Given the description of an element on the screen output the (x, y) to click on. 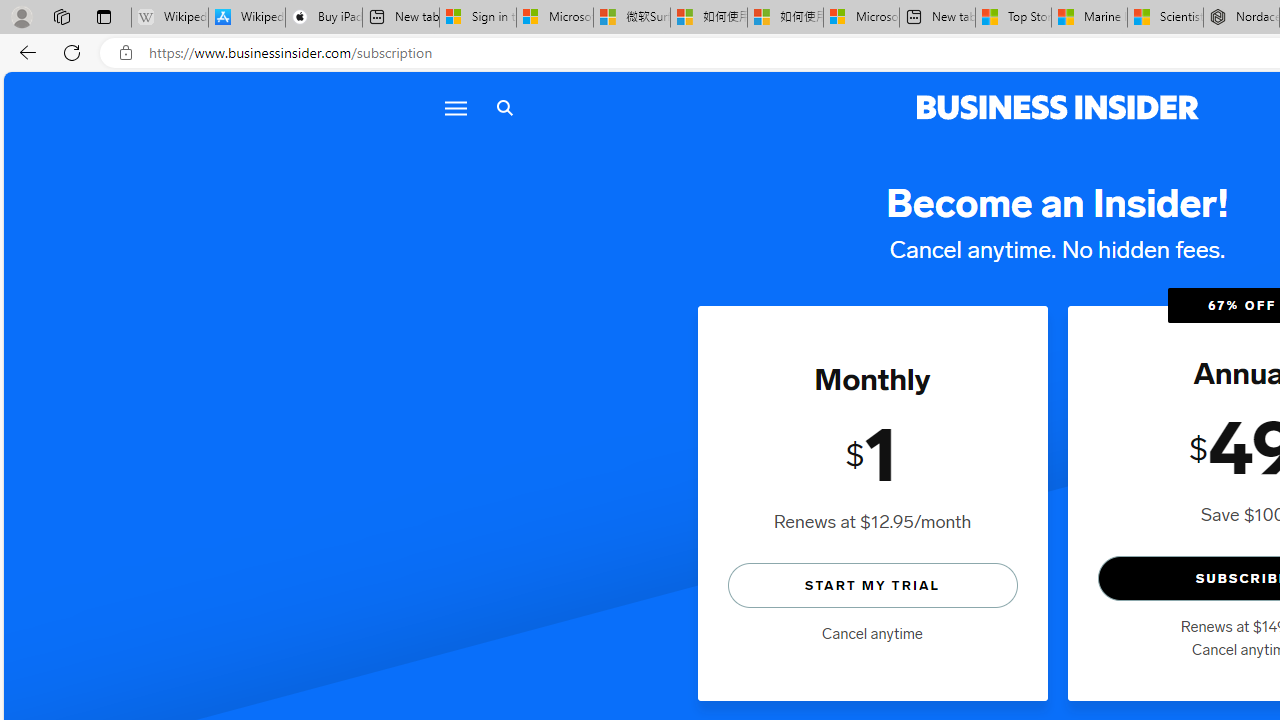
Business Insider logo (1057, 107)
Menu icon (455, 107)
Search icon (504, 107)
Business Insider logo (1057, 107)
